Given the description of an element on the screen output the (x, y) to click on. 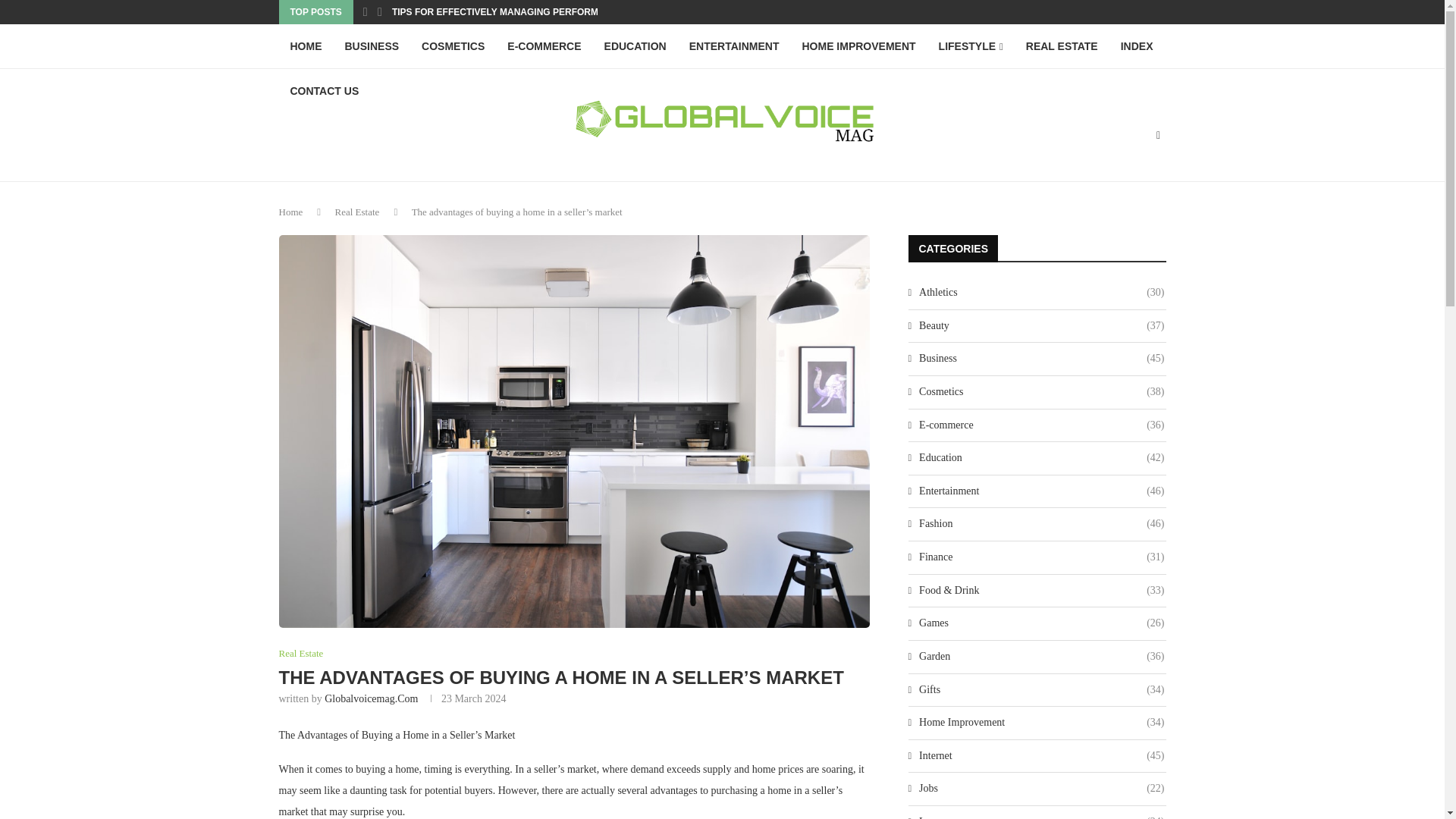
Home (290, 211)
EDUCATION (635, 46)
REAL ESTATE (1061, 46)
COSMETICS (453, 46)
HOME (306, 46)
BUSINESS (371, 46)
ENTERTAINMENT (734, 46)
INDEX (1136, 46)
LIFESTYLE (970, 46)
TIPS FOR EFFECTIVELY MANAGING PERFORMANCE REVIEWS (529, 12)
CONTACT US (325, 90)
E-COMMERCE (544, 46)
HOME IMPROVEMENT (858, 46)
